Given the description of an element on the screen output the (x, y) to click on. 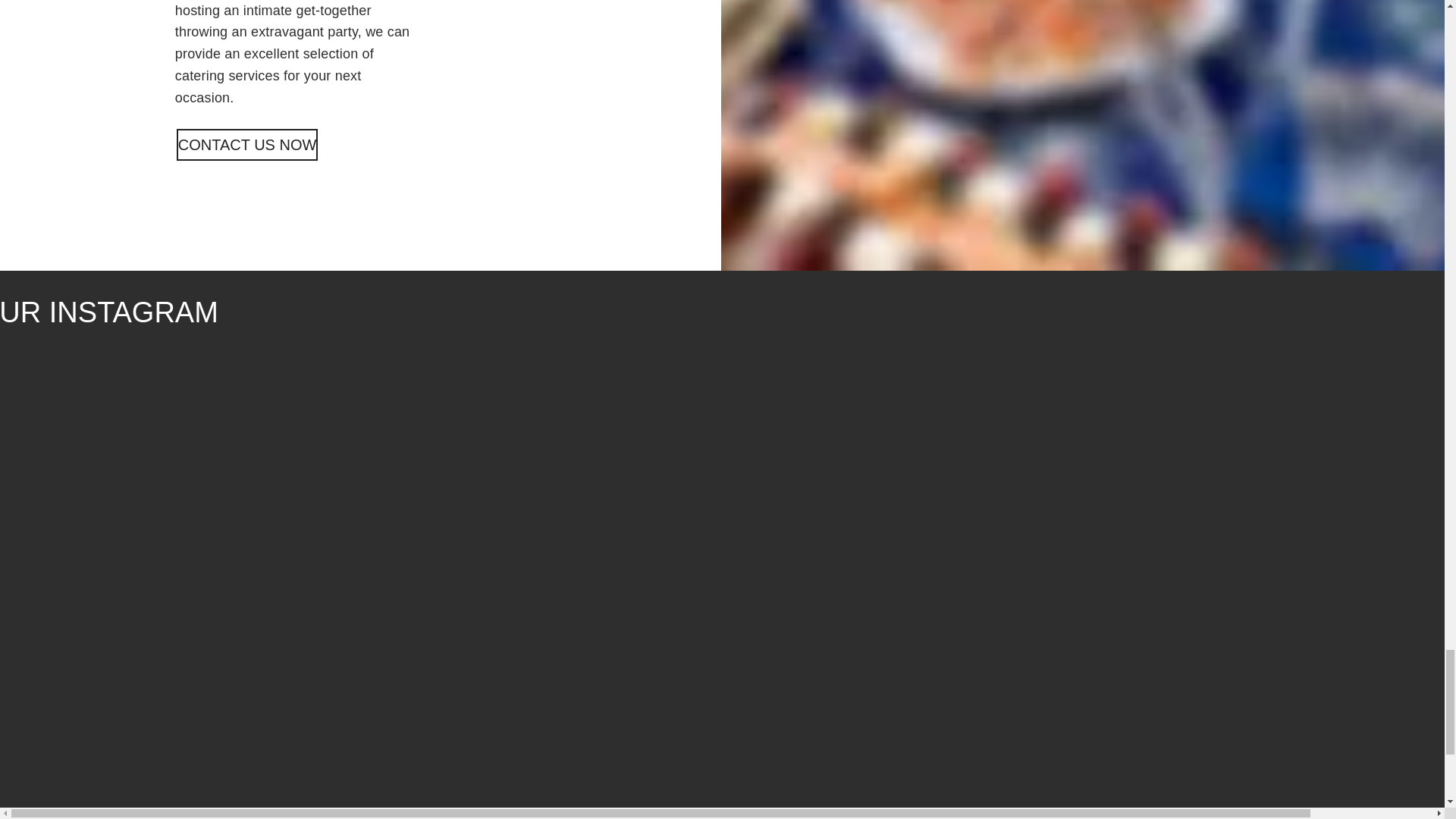
CONTACT US NOW (247, 144)
